Given the description of an element on the screen output the (x, y) to click on. 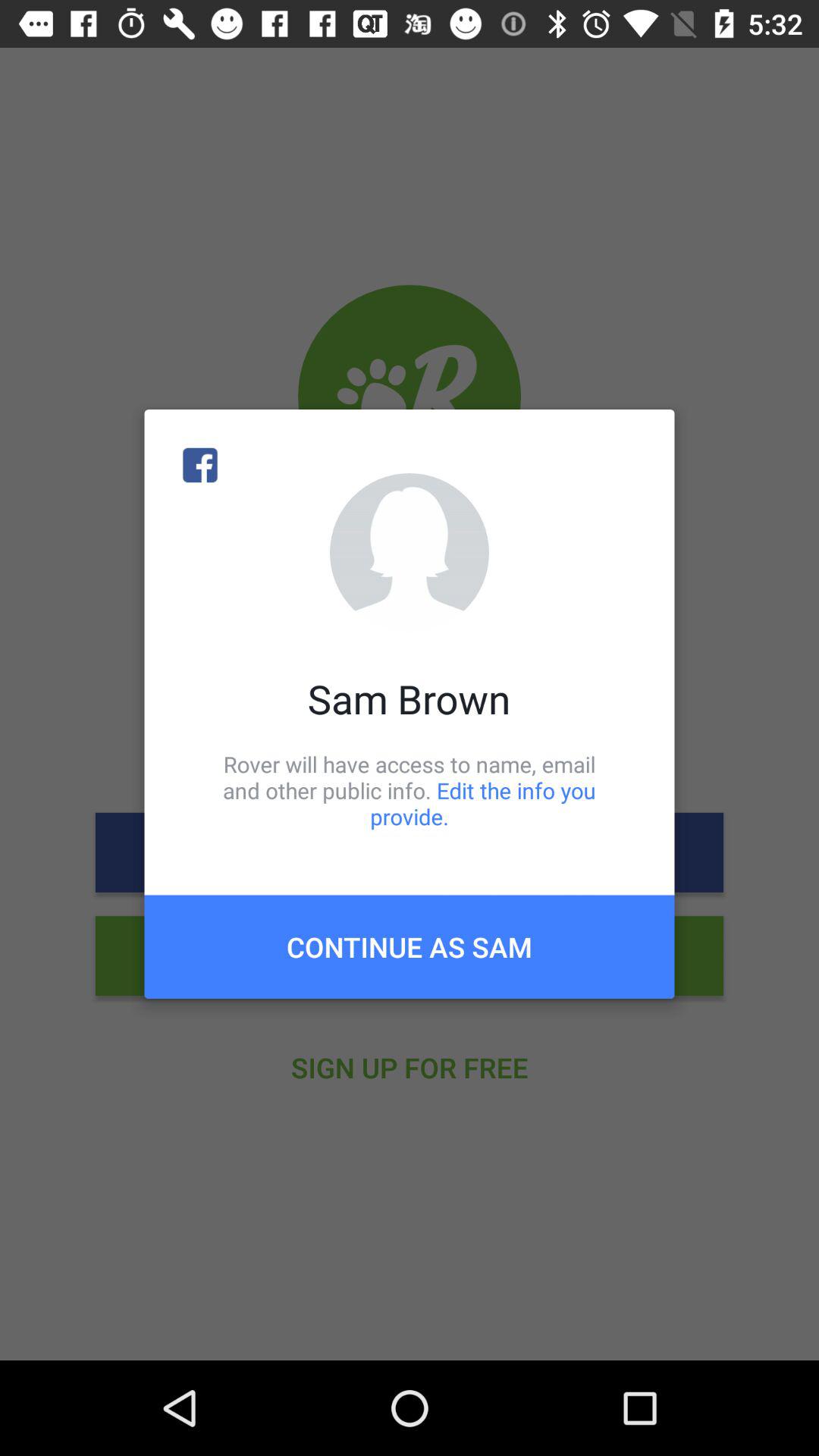
press continue as sam icon (409, 946)
